Given the description of an element on the screen output the (x, y) to click on. 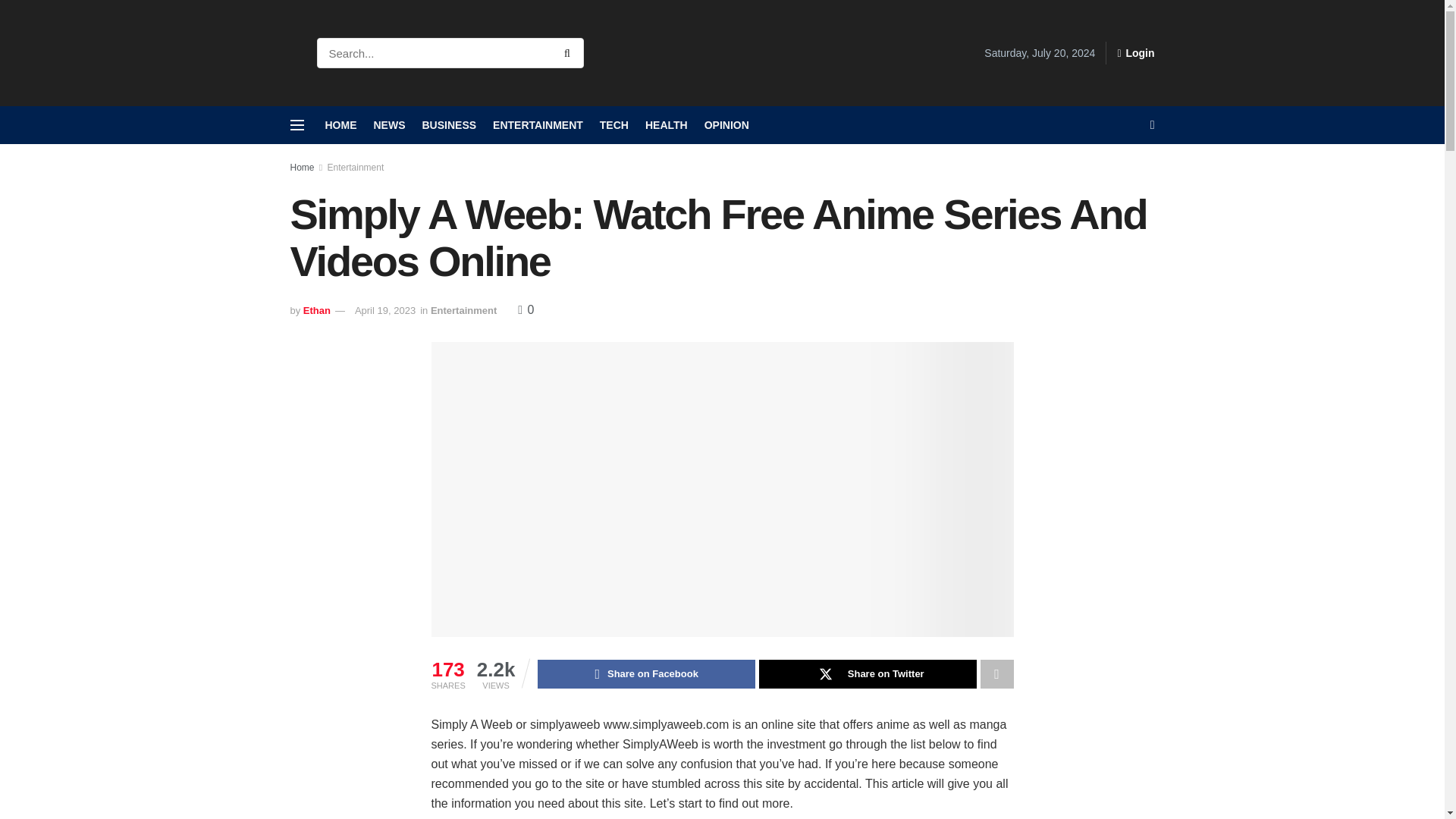
Entertainment (355, 167)
Ethan (316, 310)
HEALTH (666, 125)
Share on Twitter (867, 674)
BUSINESS (449, 125)
Home (301, 167)
Entertainment (463, 310)
Share on Facebook (646, 674)
Login (1135, 53)
April 19, 2023 (384, 310)
OPINION (726, 125)
0 (526, 309)
ENTERTAINMENT (538, 125)
